Given the description of an element on the screen output the (x, y) to click on. 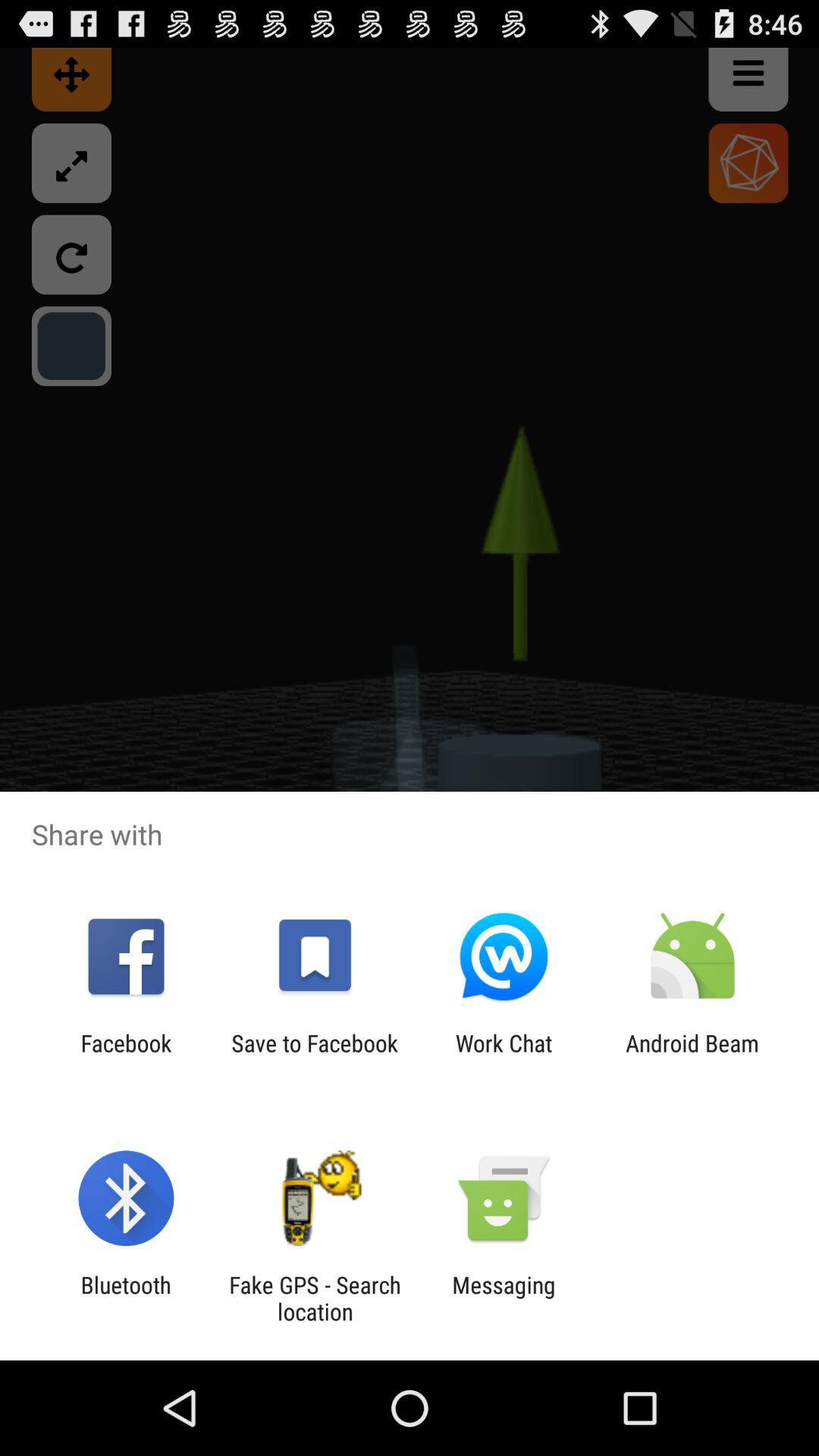
scroll until the work chat (503, 1056)
